Given the description of an element on the screen output the (x, y) to click on. 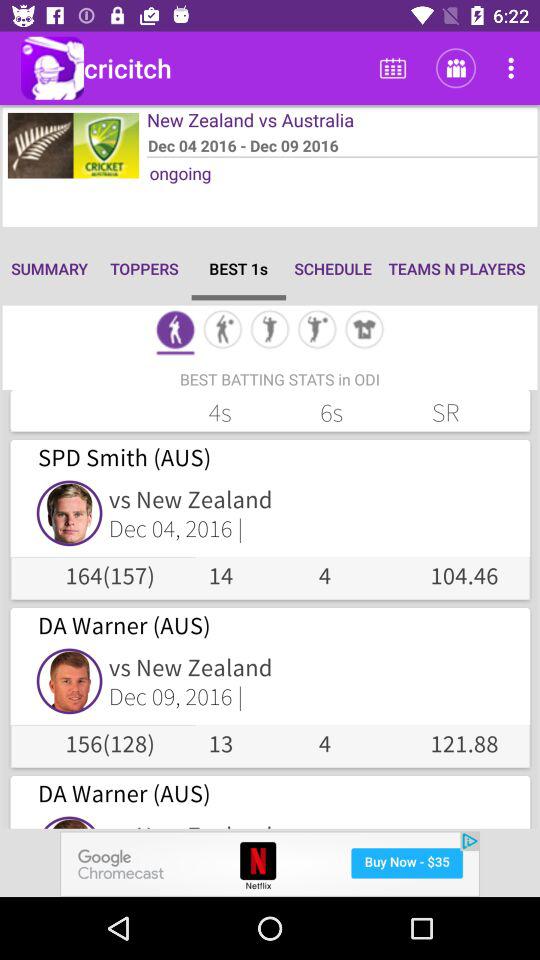
mode select (175, 331)
